Given the description of an element on the screen output the (x, y) to click on. 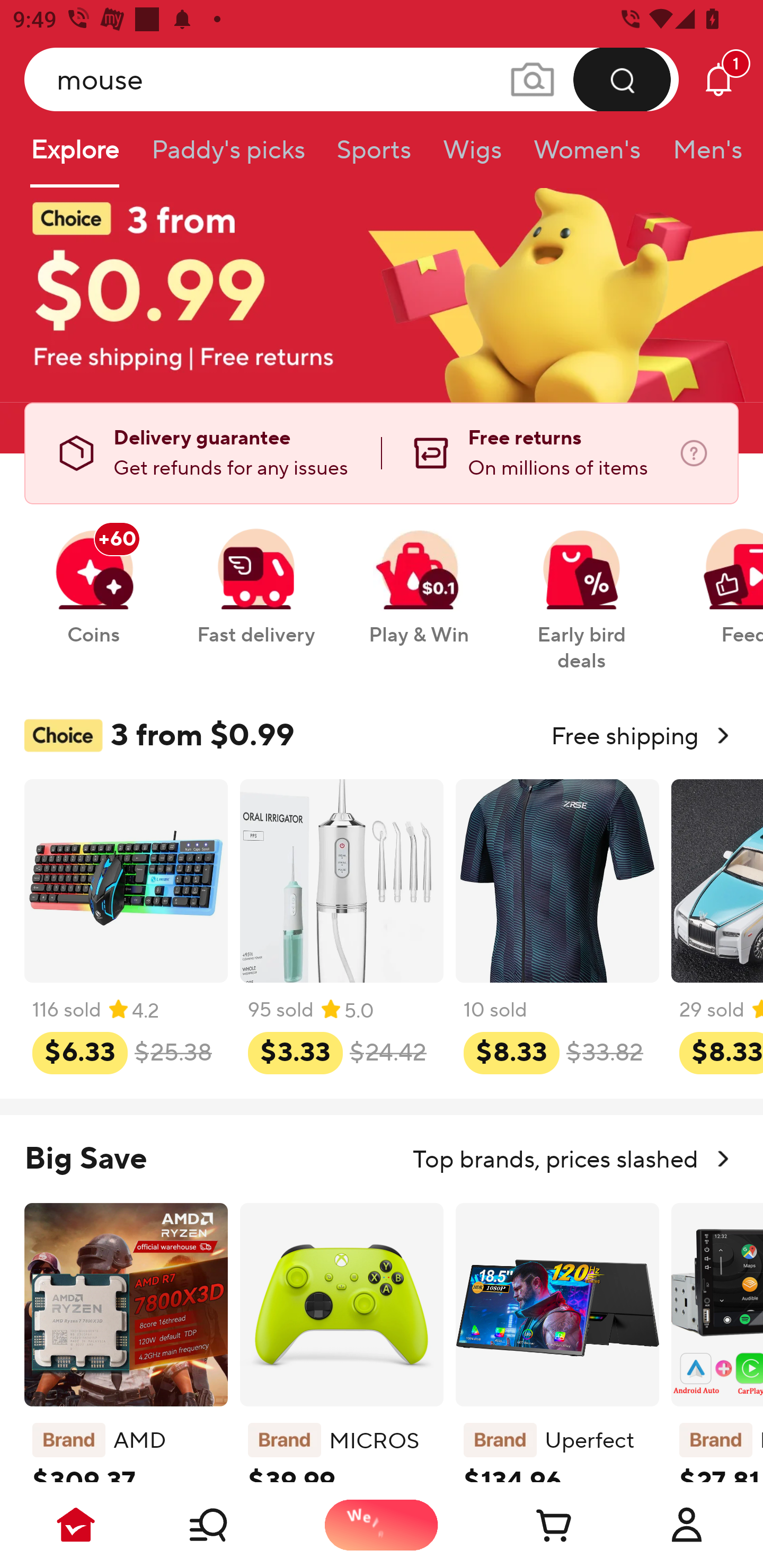
mouse (351, 79)
Paddy's picks (227, 155)
Sports (373, 155)
Wigs (472, 155)
Women's (586, 155)
Men's (701, 155)
Coinsbutton +60 Coins (93, 576)
Fast deliverybutton Fast delivery (255, 576)
Play & Winbutton Play & Win (418, 576)
Early bird dealsbutton Early bird deals (581, 589)
Feedbutton Feed (719, 576)
Shop (228, 1524)
Cart (533, 1524)
Account (686, 1524)
